Given the description of an element on the screen output the (x, y) to click on. 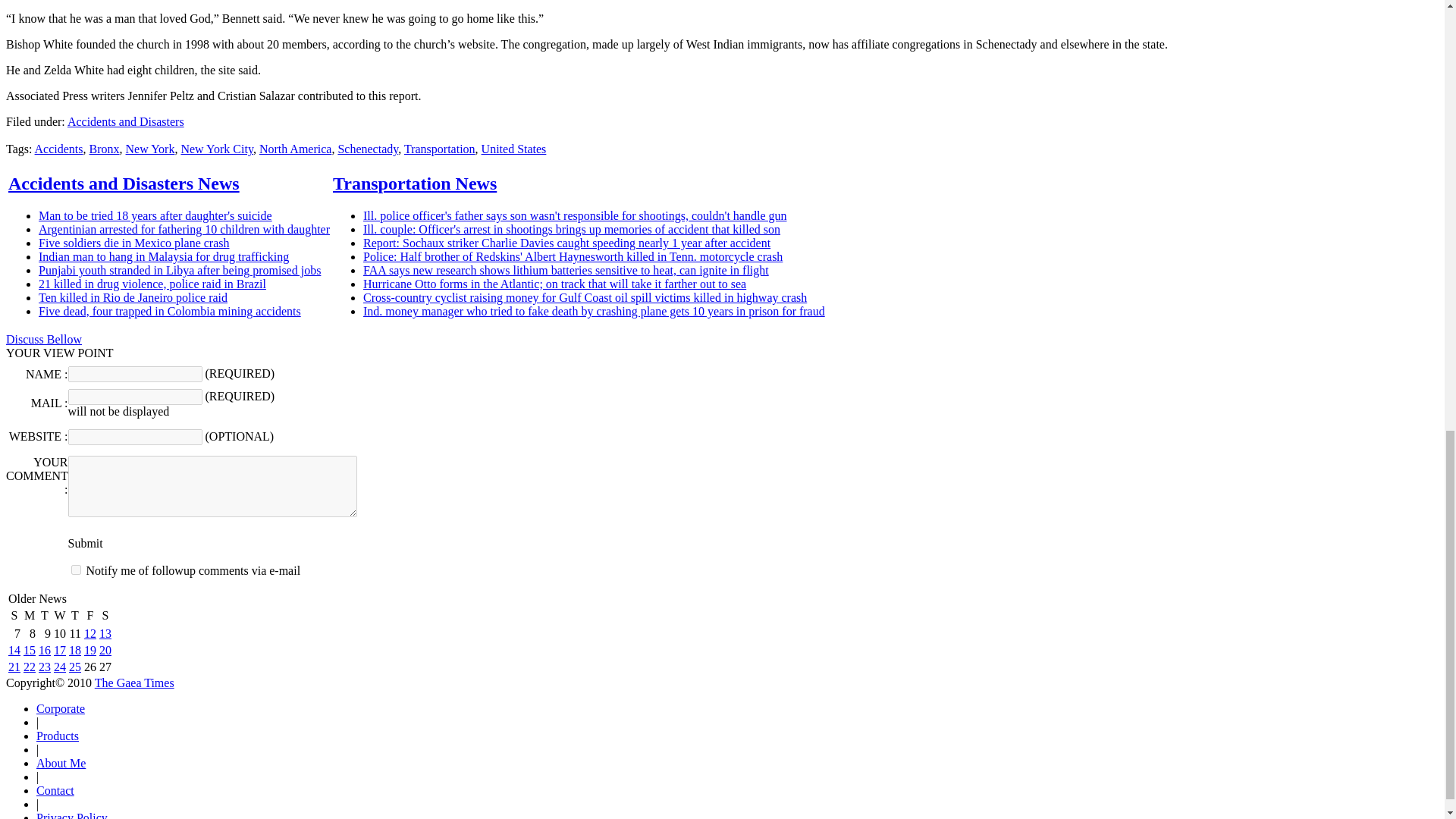
Transportation (440, 148)
New York (149, 148)
subscribe (76, 569)
Accidents and Disasters (125, 121)
New York City (215, 148)
Schenectady (367, 148)
Accidents (58, 148)
North America (295, 148)
Bronx (103, 148)
